Given the description of an element on the screen output the (x, y) to click on. 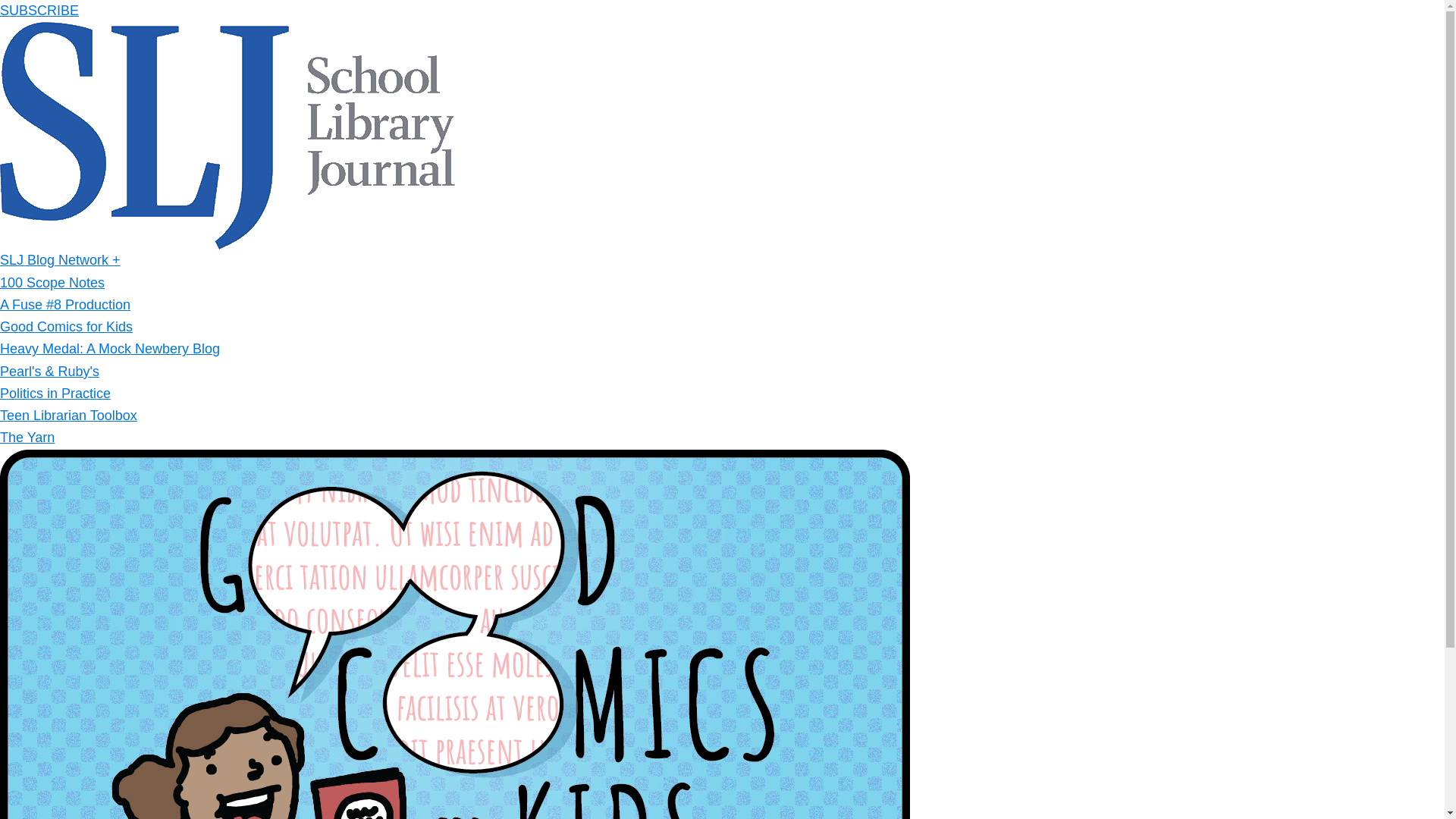
Politics in Practice (55, 393)
Good Comics for Kids (66, 326)
The Yarn (27, 437)
Teen Librarian Toolbox (68, 415)
Heavy Medal: A Mock Newbery Blog (109, 348)
SUBSCRIBE (39, 10)
100 Scope Notes (52, 281)
